Given the description of an element on the screen output the (x, y) to click on. 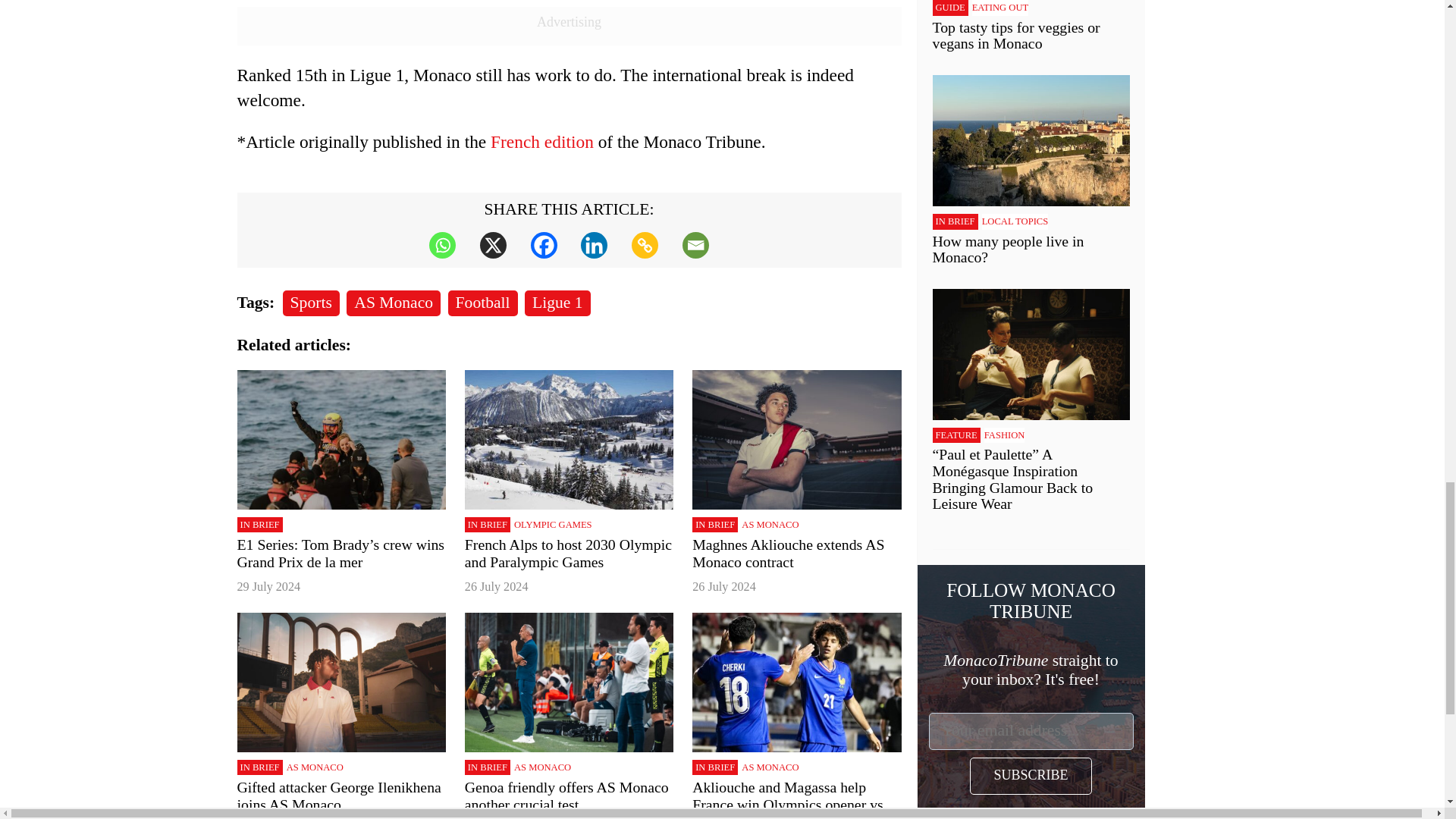
Subscribe (1029, 775)
